Given the description of an element on the screen output the (x, y) to click on. 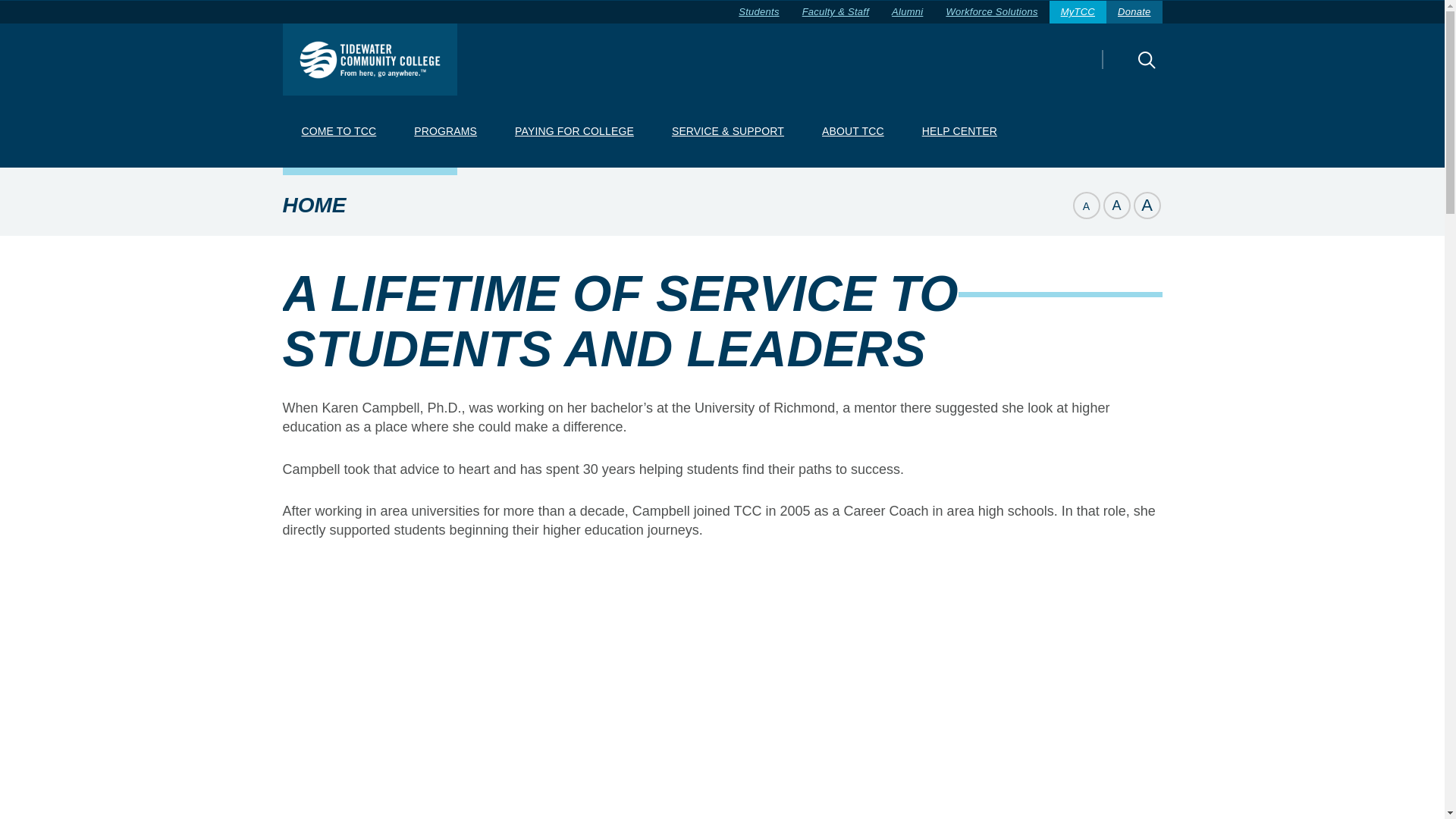
Workforce Solutions (991, 11)
Set page copy to small size (1085, 205)
Students (758, 11)
Search (1119, 70)
MyTCC (1077, 11)
Donate (1133, 11)
Set page copy to normal size (1115, 205)
Tidewater Community College (369, 59)
COME TO TCC (338, 131)
Alumni (907, 11)
